Given the description of an element on the screen output the (x, y) to click on. 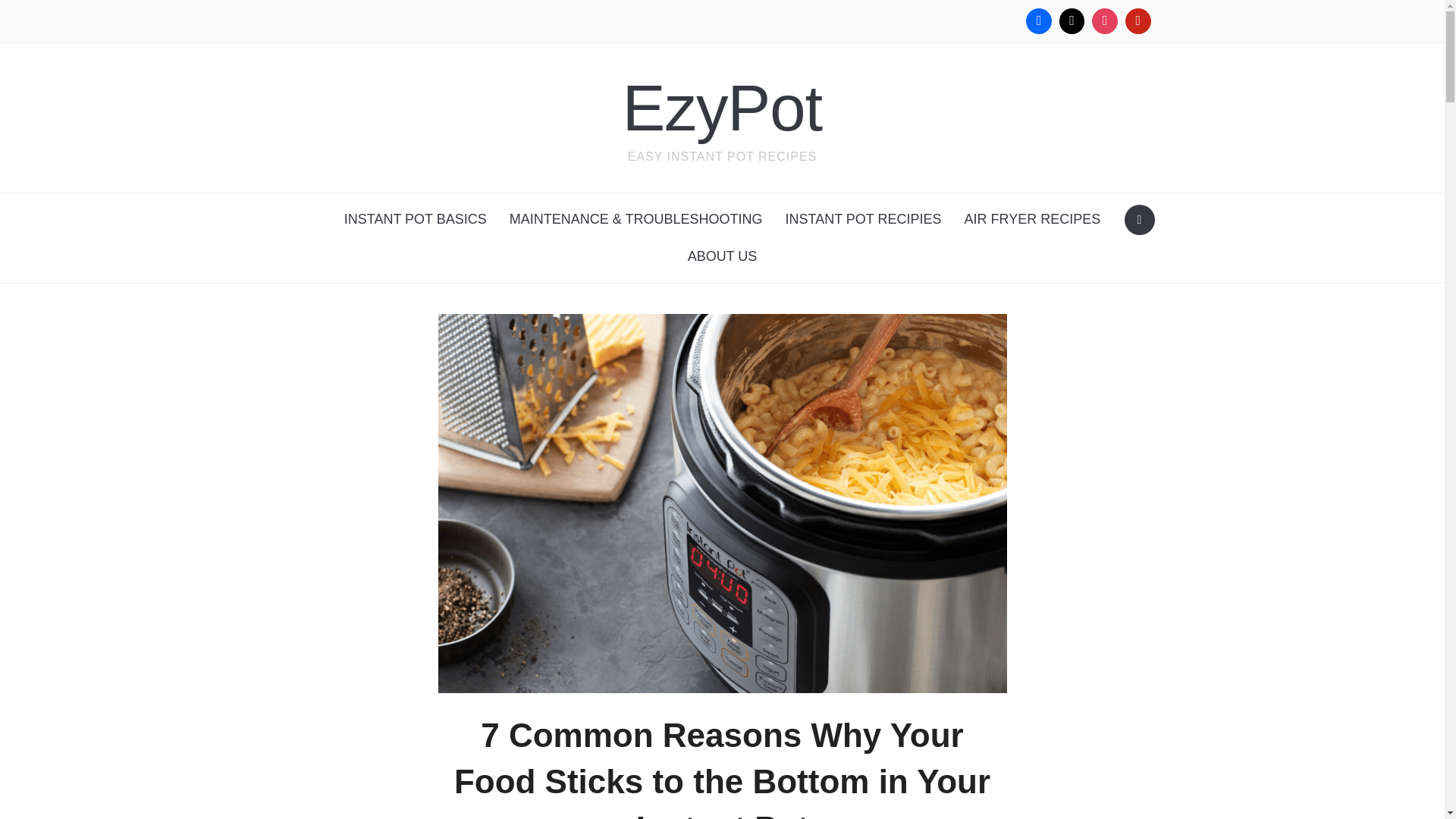
X (1072, 20)
Pinterest (1137, 20)
EzyPot (722, 108)
INSTANT POT RECIPIES (862, 219)
AIR FRYER RECIPES (1032, 219)
Easy Instant Pot Recipes (722, 108)
Instagram (1104, 20)
Search (1139, 219)
ABOUT US (722, 256)
INSTANT POT BASICS (415, 219)
Facebook (1038, 20)
